Given the description of an element on the screen output the (x, y) to click on. 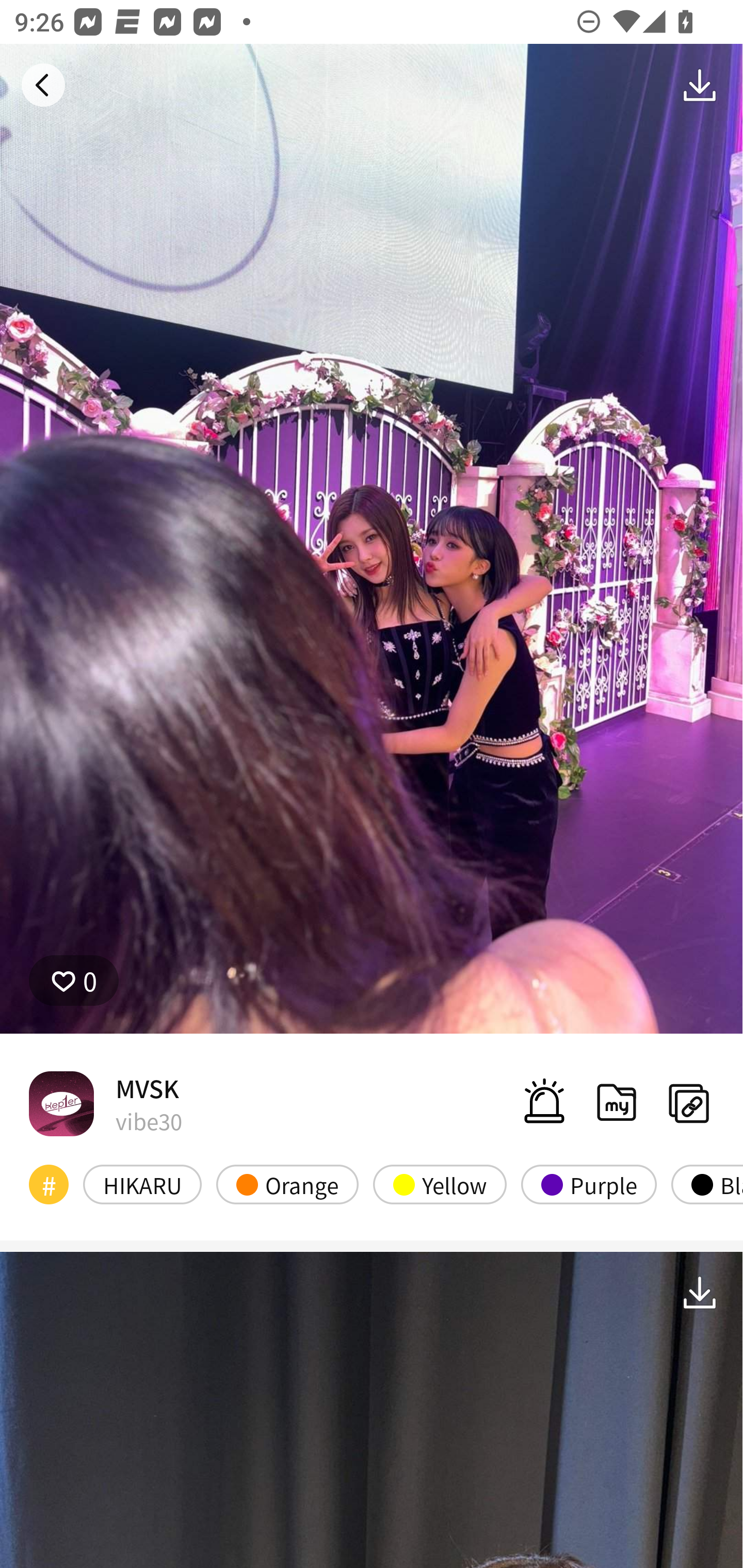
0 (73, 980)
MVSK vibe30 (105, 1102)
HIKARU (142, 1184)
Orange (287, 1184)
Yellow (439, 1184)
Purple (588, 1184)
